Given the description of an element on the screen output the (x, y) to click on. 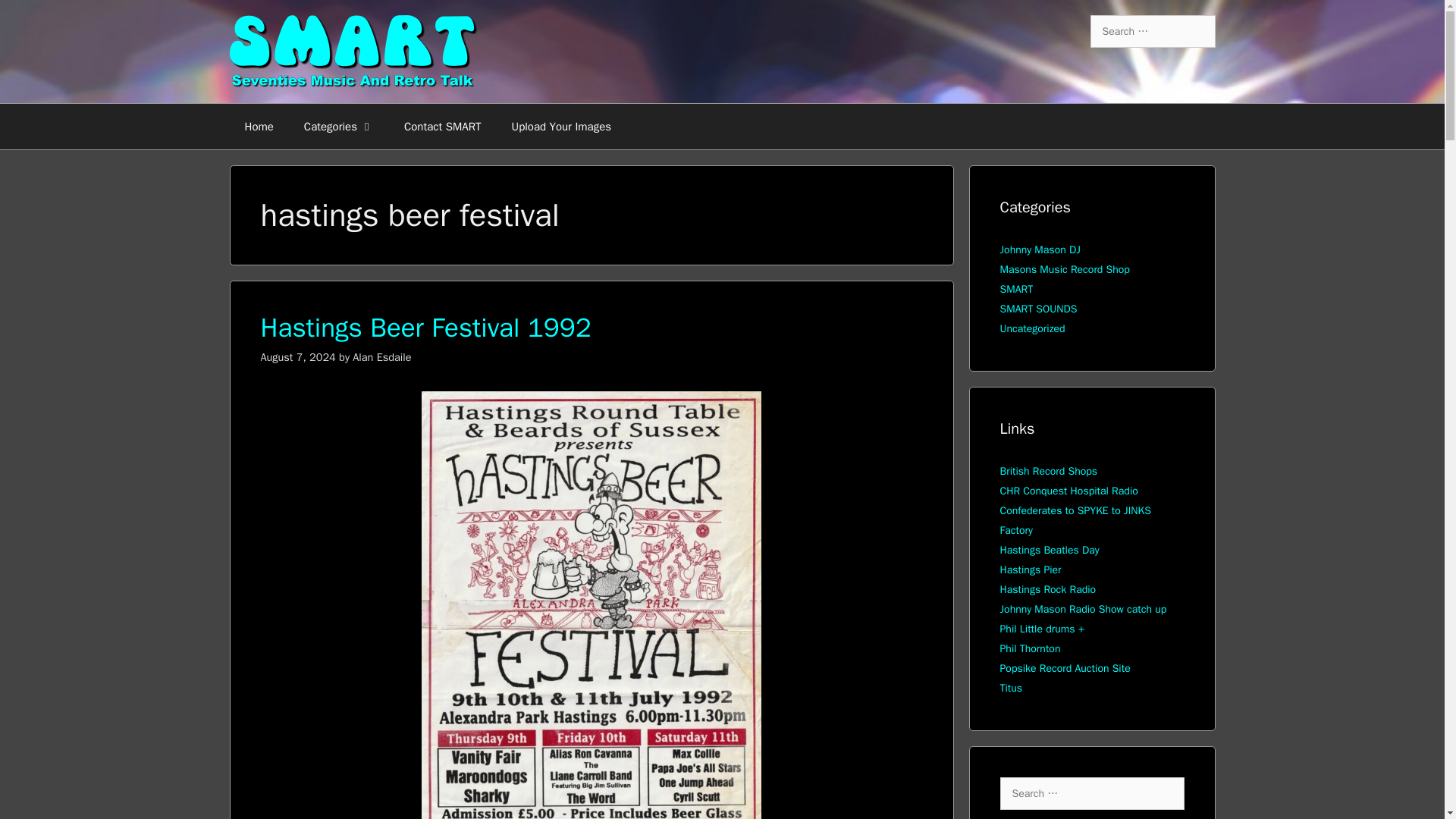
Categories (338, 126)
Search for: (1090, 793)
vinyl records auction site  (1063, 667)
View all posts by Alan Esdaile (381, 356)
Confederates to SPYKE to JINKS (1074, 510)
Search (32, 16)
hastings record shops, disc jockey, masons music (1047, 471)
Contact SMART (442, 126)
Johnny Mason catch up radio shows. (1082, 608)
beatles day, hastings, the sara lee trust (1048, 549)
